Given the description of an element on the screen output the (x, y) to click on. 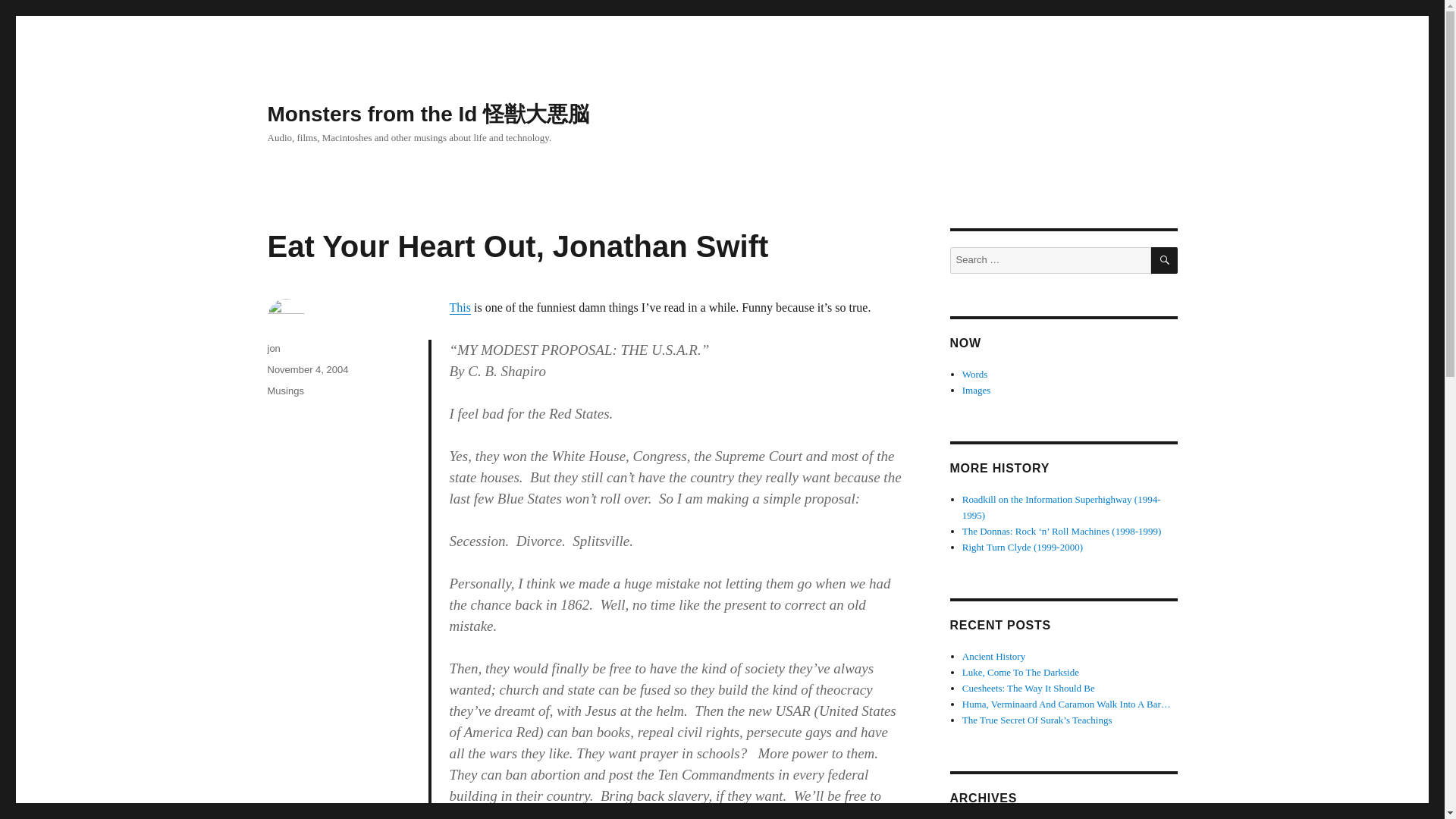
Words (975, 374)
Luke, Come To The Darkside (1020, 672)
This (459, 307)
Cuesheets: The Way It Should Be (1028, 687)
jon (272, 348)
Images (976, 389)
SEARCH (1164, 260)
Ancient History (993, 655)
November 4, 2004 (306, 369)
Musings (284, 390)
